Given the description of an element on the screen output the (x, y) to click on. 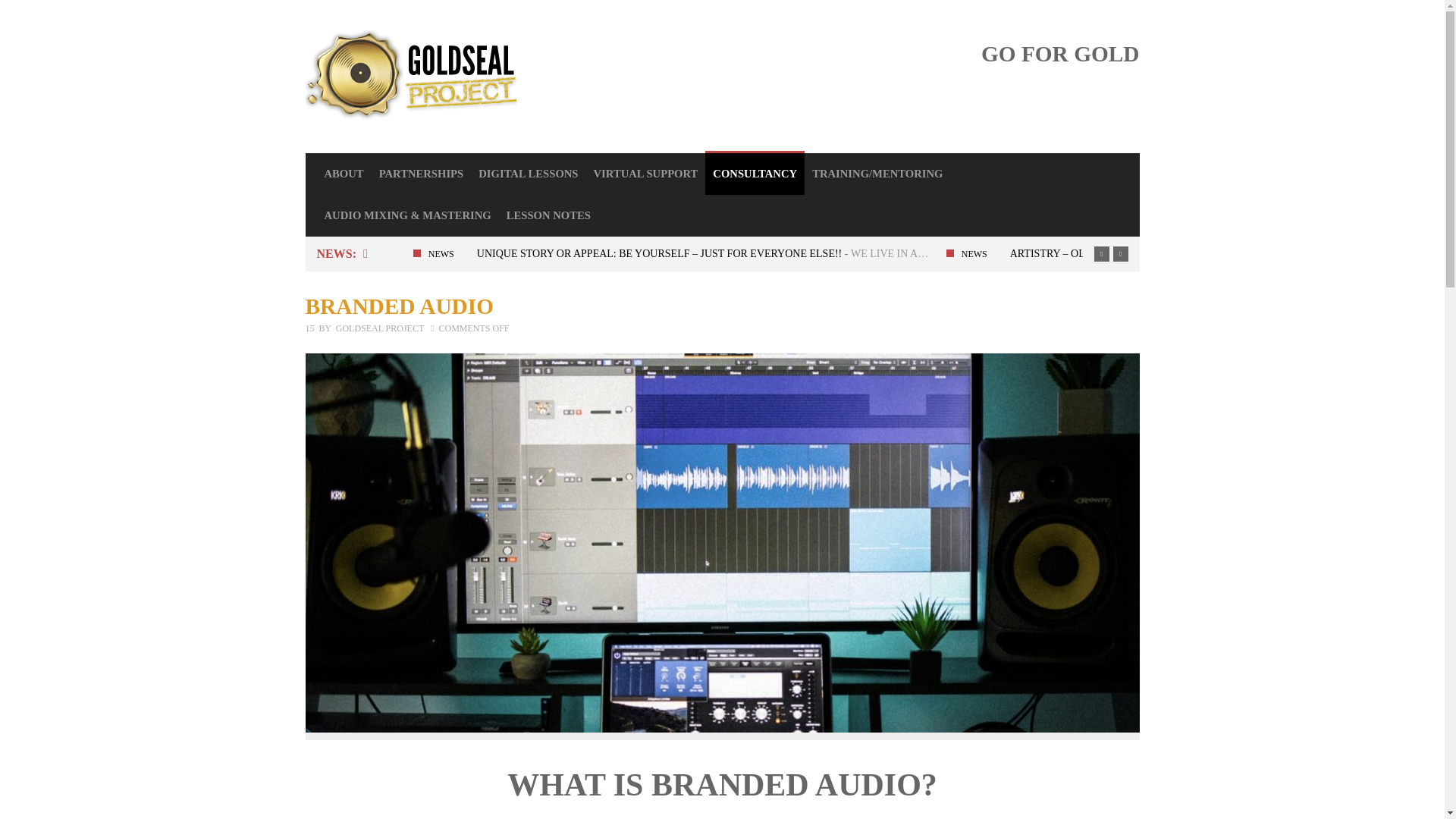
PARTNERSHIPS (421, 173)
ABOUT (344, 173)
VIRTUAL SUPPORT (646, 173)
Branded Audio (398, 306)
CONSULTANCY (754, 173)
NEWS (966, 253)
NEWS (433, 253)
BRANDED AUDIO (398, 306)
LESSON NOTES (548, 215)
DIGITAL LESSONS (528, 173)
